Given the description of an element on the screen output the (x, y) to click on. 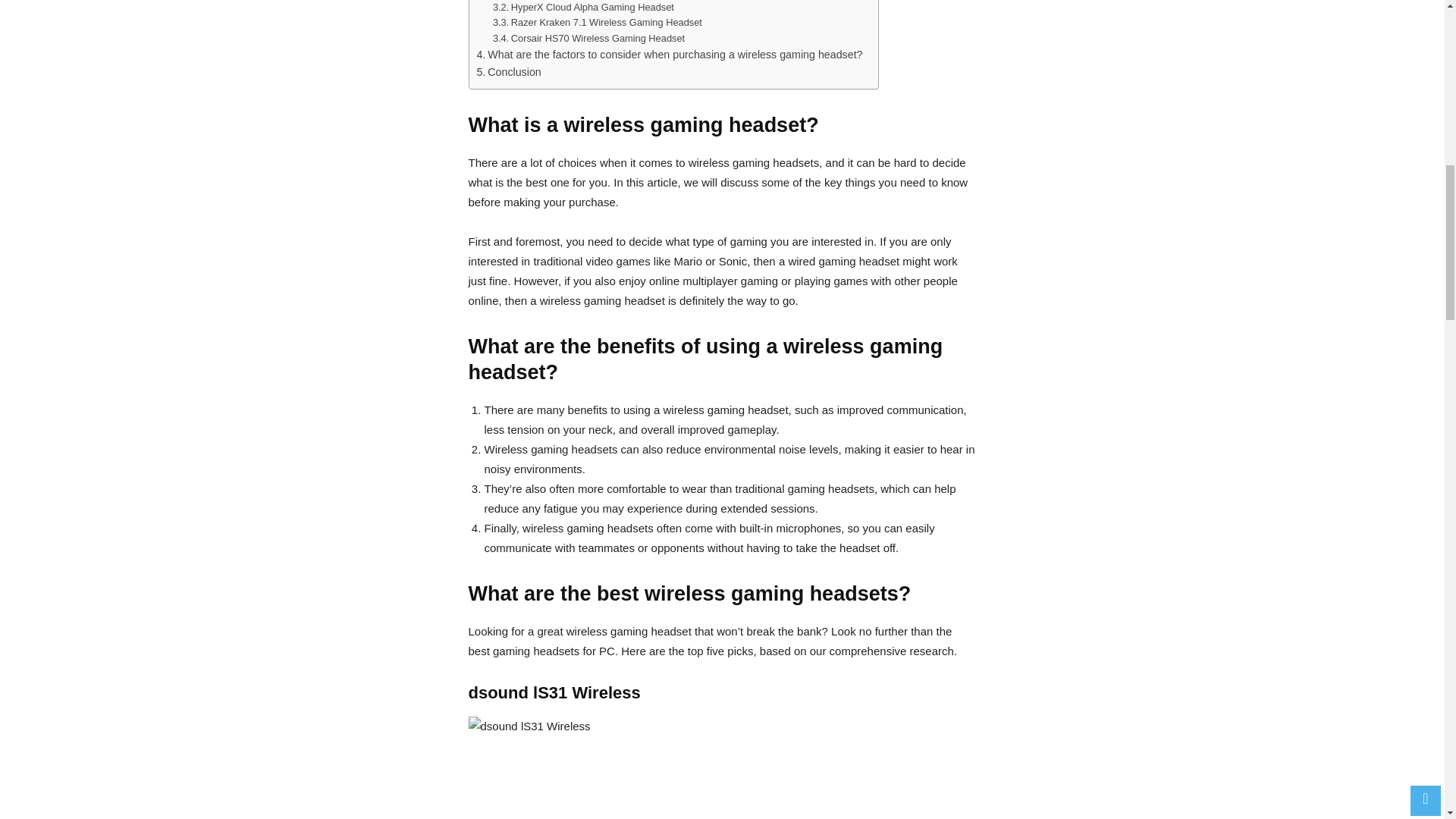
Razer Kraken 7.1 Wireless Gaming Headset (597, 23)
Conclusion (508, 72)
HyperX Cloud Alpha Gaming Headset (583, 7)
Corsair HS70 Wireless Gaming Headset (588, 38)
Razer Kraken 7.1 Wireless Gaming Headset (597, 23)
HyperX Cloud Alpha Gaming Headset (583, 7)
Corsair HS70 Wireless Gaming Headset (588, 38)
